Given the description of an element on the screen output the (x, y) to click on. 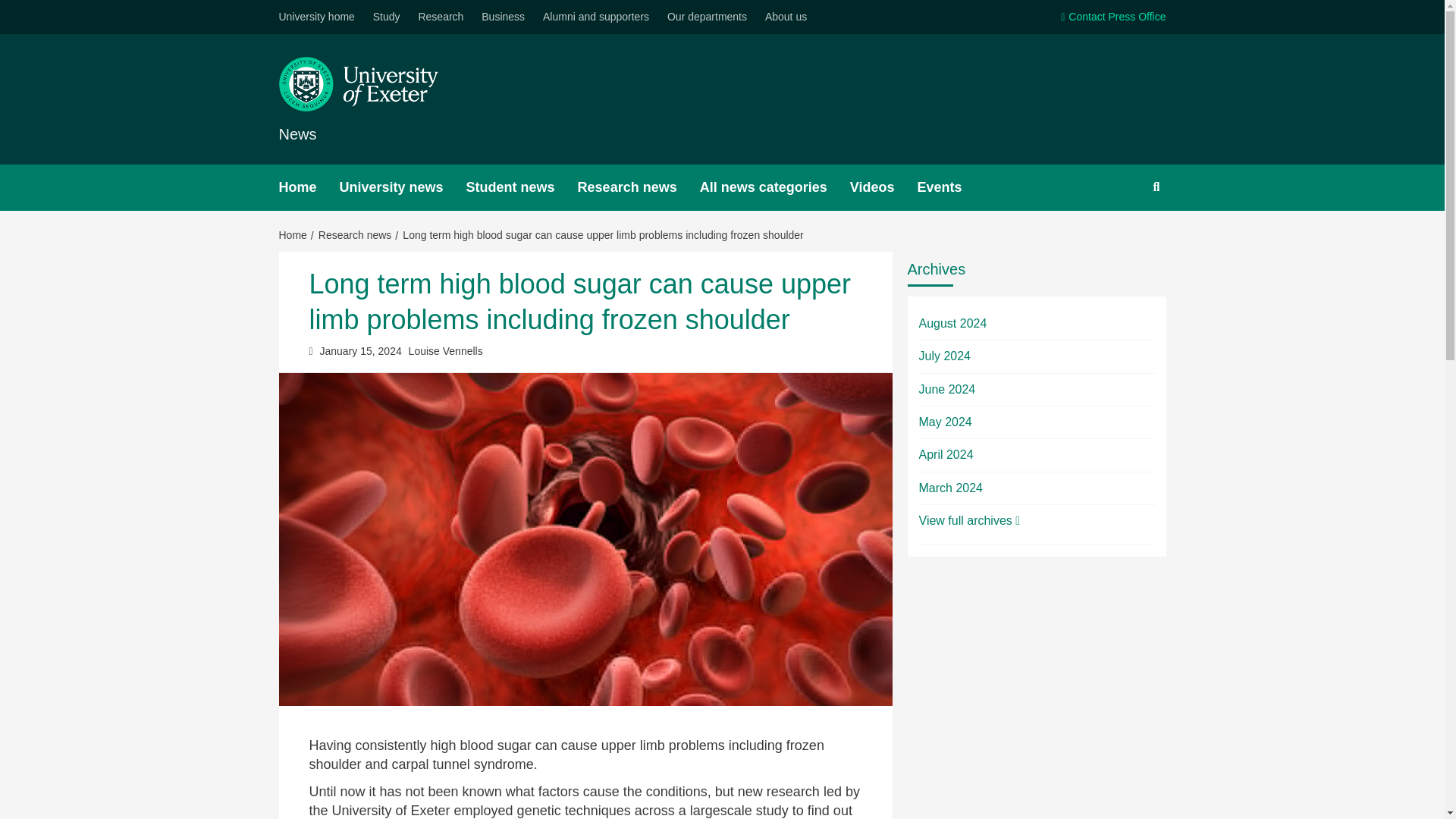
Business (503, 17)
University home (320, 17)
Research (440, 17)
Study (386, 17)
Our departments (706, 17)
University news (402, 187)
Student news (521, 187)
Search (1120, 236)
About us (785, 17)
